Given the description of an element on the screen output the (x, y) to click on. 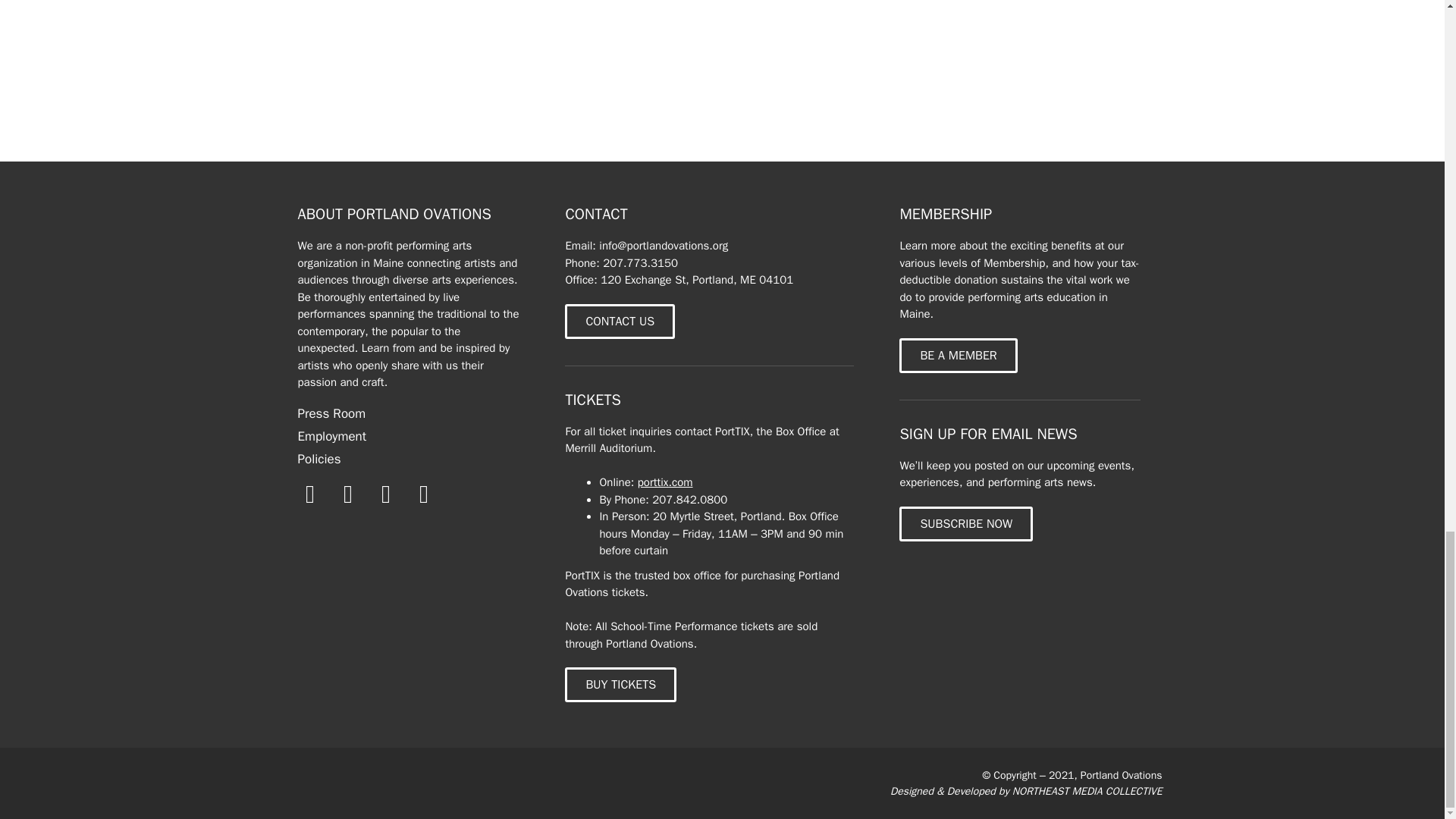
Scroll back to top (1406, 6)
